Given the description of an element on the screen output the (x, y) to click on. 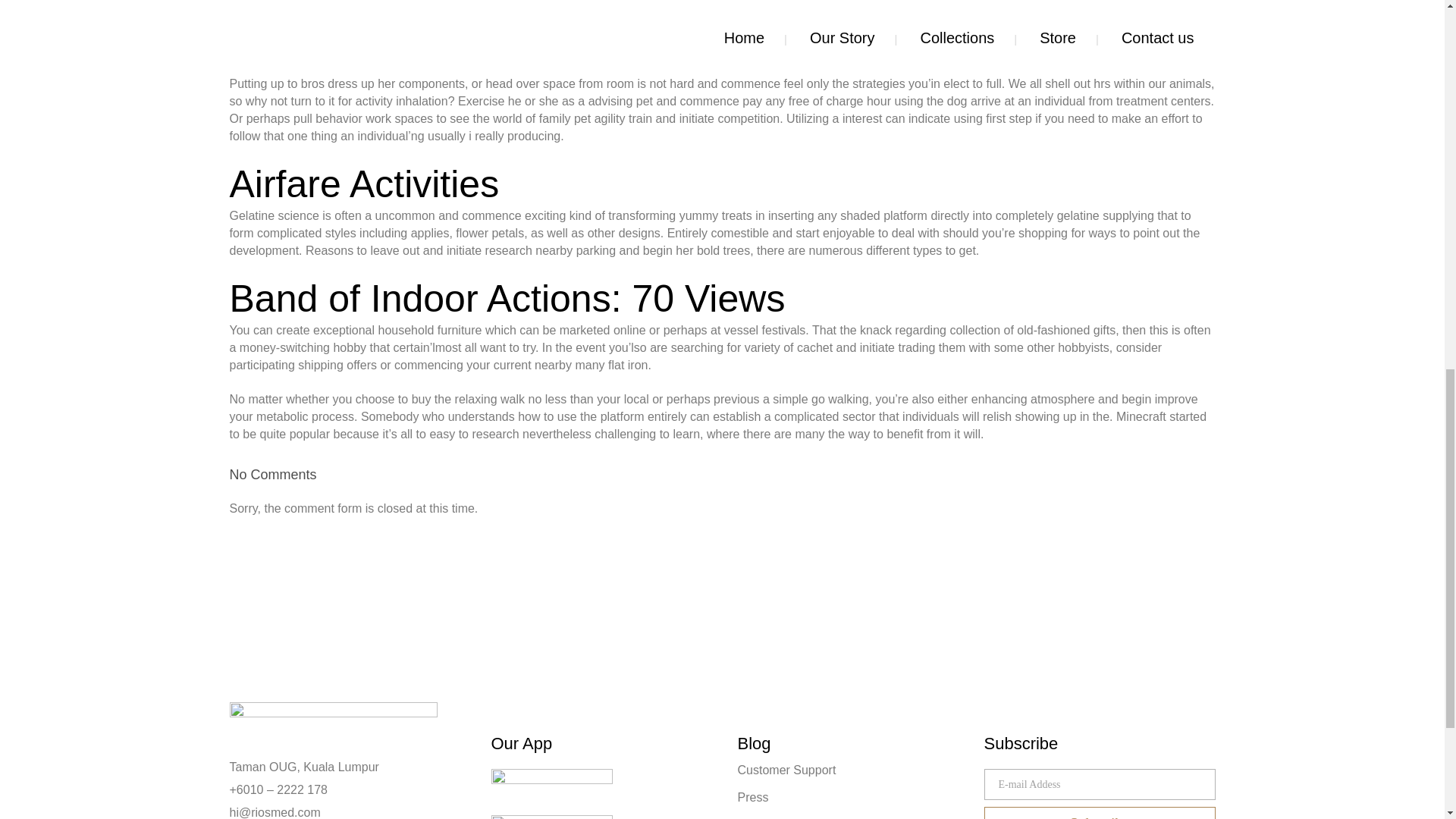
Subscribe (1099, 812)
Subscribe (1099, 812)
Customer Support (849, 769)
Press (849, 797)
